Given the description of an element on the screen output the (x, y) to click on. 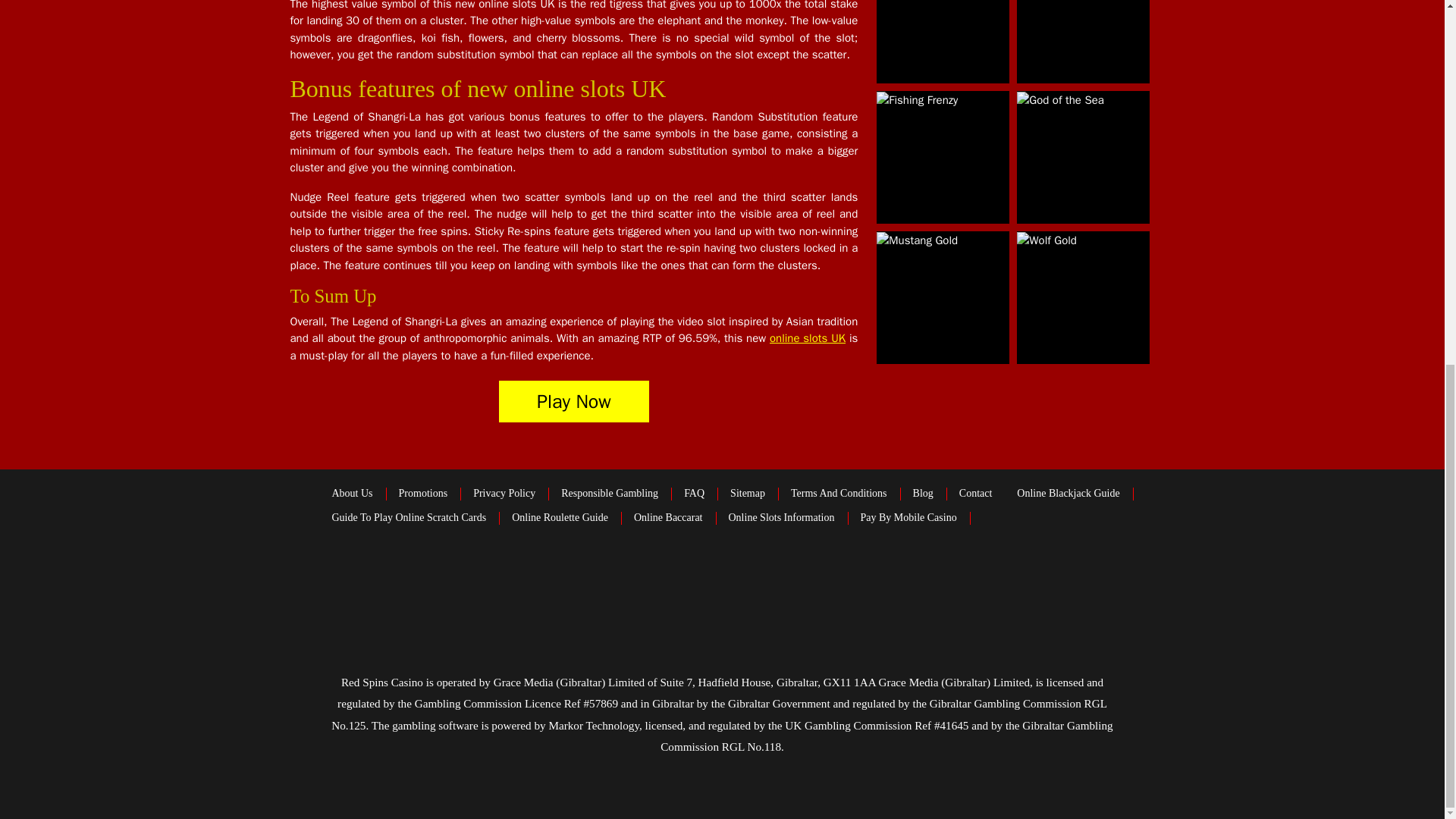
Gamblingcommission (986, 577)
Gamcare (888, 577)
Gambleaware (777, 577)
Visa (330, 577)
Paypal (409, 577)
trustly (492, 577)
muchbetter (573, 577)
Maestro (644, 577)
MasterCard (694, 577)
online slots UK (807, 337)
